Given the description of an element on the screen output the (x, y) to click on. 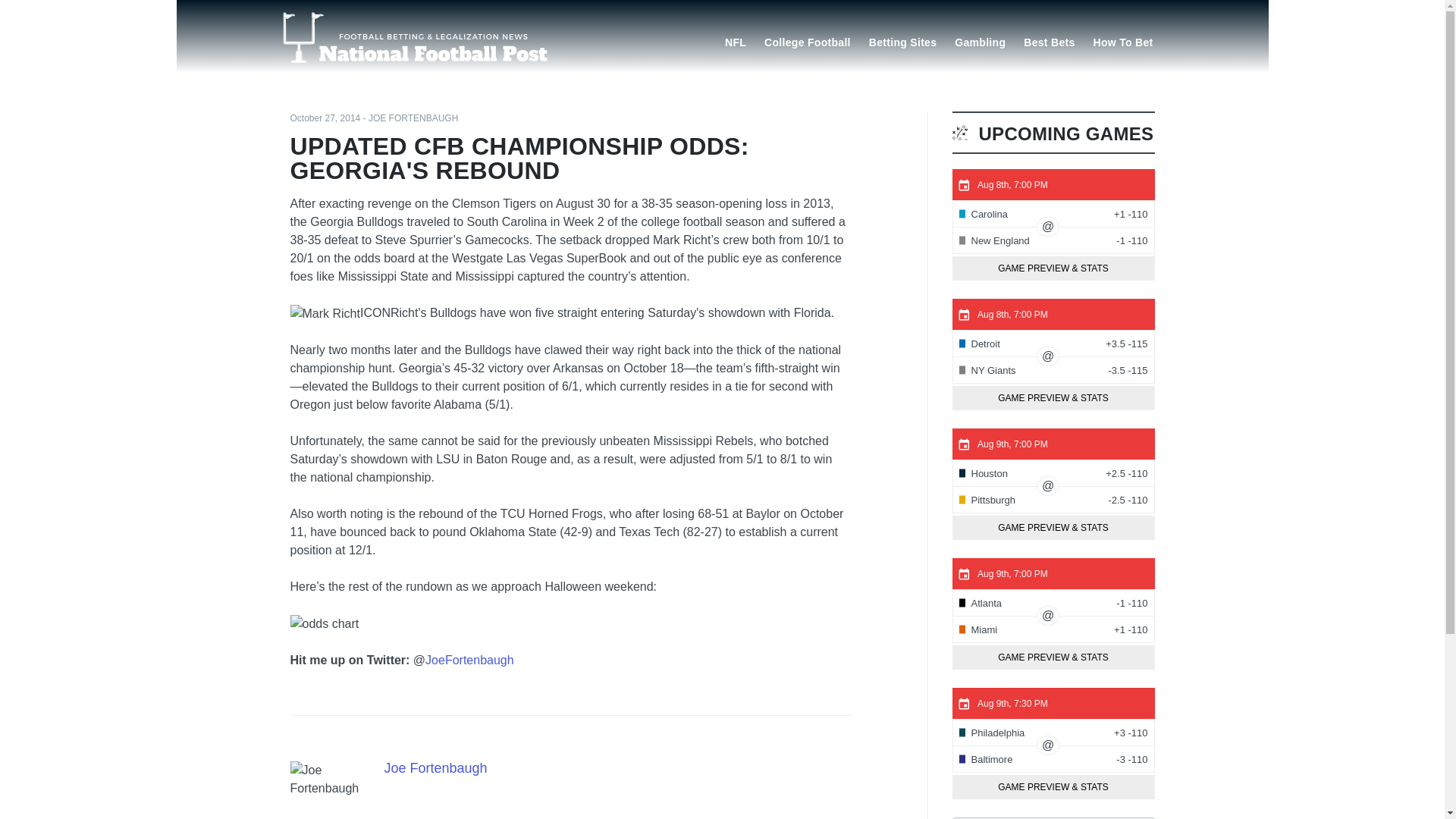
NFL (735, 41)
Betting Sites (902, 41)
How To Bet (1122, 41)
Best Bets (1048, 41)
Betting Sites (902, 41)
NFL (735, 41)
Best Bets (1048, 41)
Gambling (979, 41)
JoeFortenbaugh (469, 659)
College Football (807, 41)
How To Bet (1122, 41)
College Football (807, 41)
Joe Fortenbaugh (435, 767)
Gambling (979, 41)
